Given the description of an element on the screen output the (x, y) to click on. 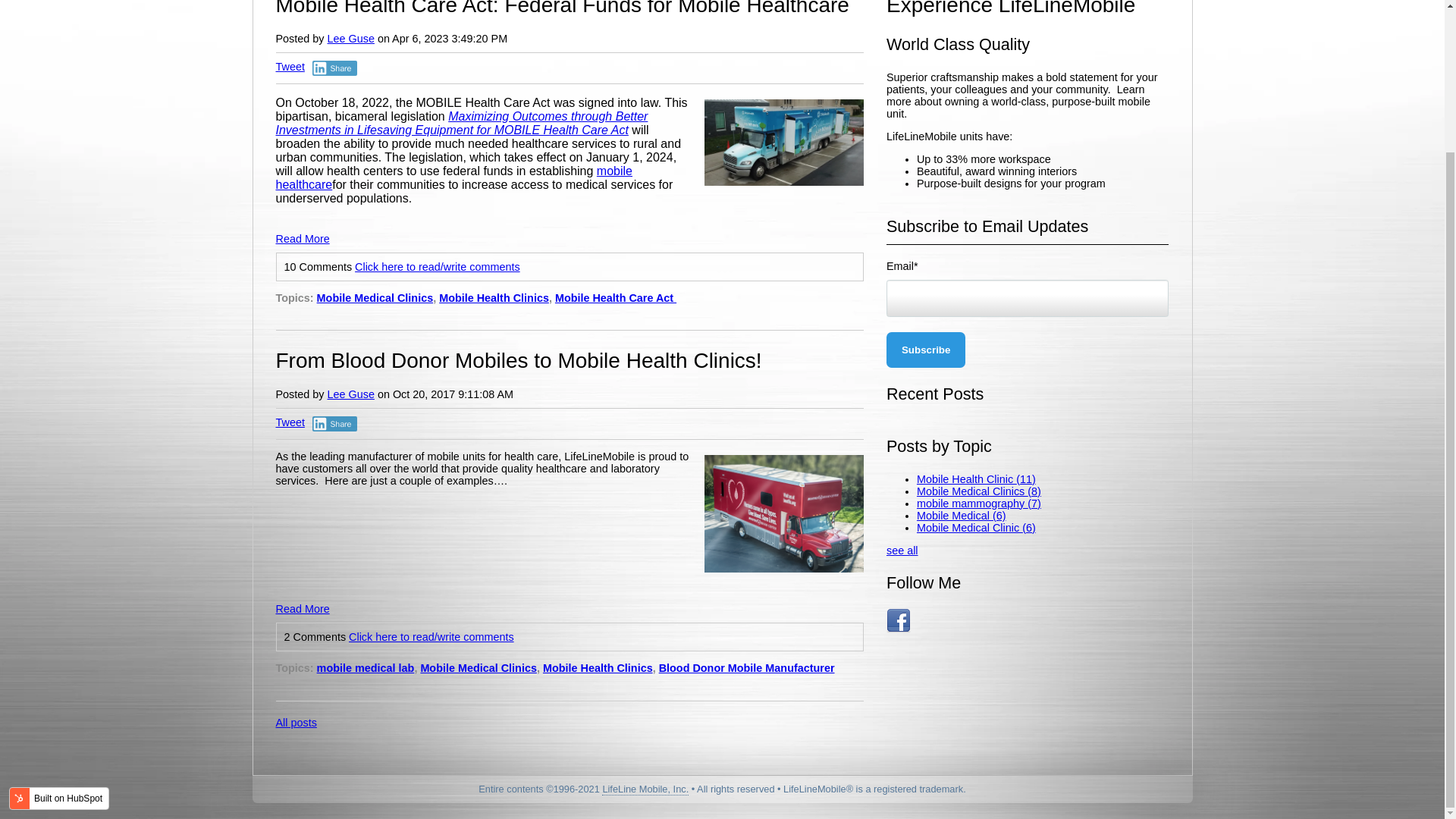
Follow us on Facebook (898, 621)
Read More (303, 230)
mobile healthcare (454, 177)
Mobile Health Clinics (493, 297)
Lee Guse (350, 394)
Lee Guse (350, 38)
Mobile Health Care Act  (615, 297)
Share (334, 68)
Tweet (290, 422)
Mobile Health Care Act: Federal Funds for Mobile Healthcare (562, 8)
From Blood Donor Mobiles to Mobile Health Clinics! (518, 360)
Share (334, 423)
Read More (303, 601)
Tweet (290, 66)
